Given the description of an element on the screen output the (x, y) to click on. 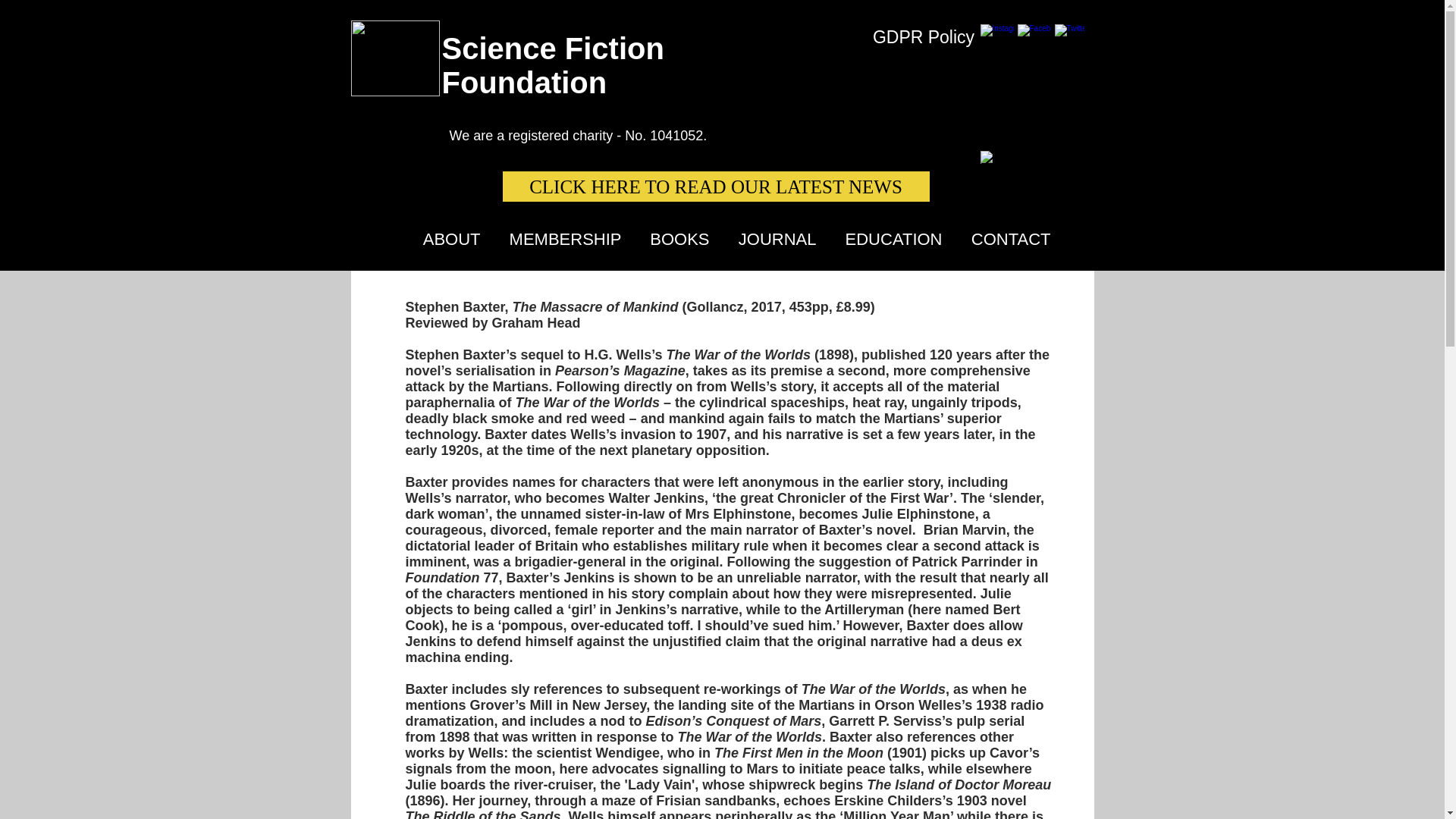
GDPR Policy (922, 37)
CONTACT (1007, 238)
BOOKS (675, 238)
JOURNAL (773, 238)
MEMBERSHIP (561, 238)
EDUCATION (890, 238)
ABOUT (448, 238)
CLICK HERE TO READ OUR LATEST NEWS (715, 186)
